Given the description of an element on the screen output the (x, y) to click on. 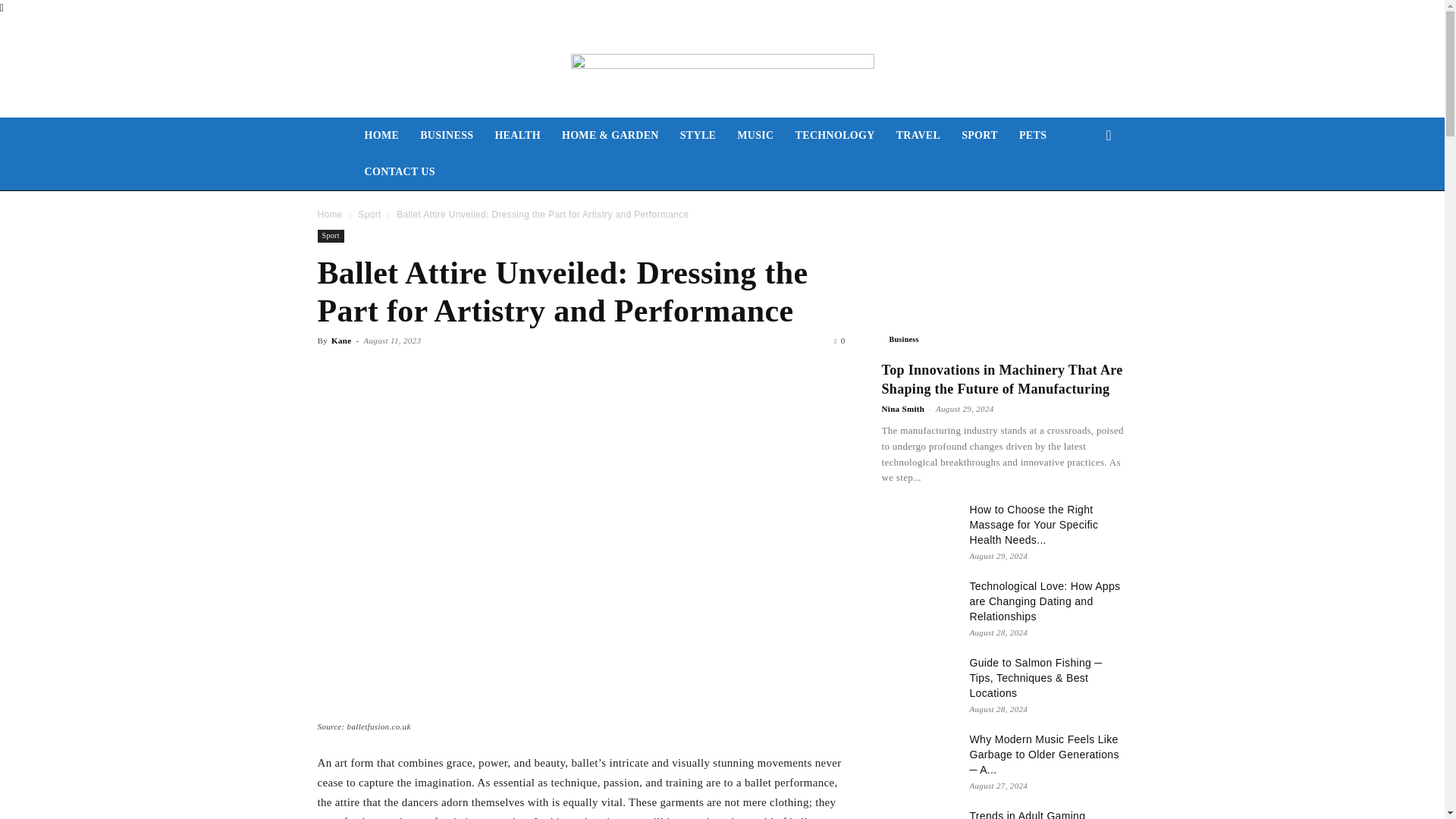
Sport (369, 214)
MUSIC (755, 135)
Kane (340, 339)
Home (329, 214)
Search (1085, 196)
STYLE (697, 135)
HEALTH (517, 135)
PETS (1033, 135)
View all posts in Sport (369, 214)
Sport (330, 236)
